Given the description of an element on the screen output the (x, y) to click on. 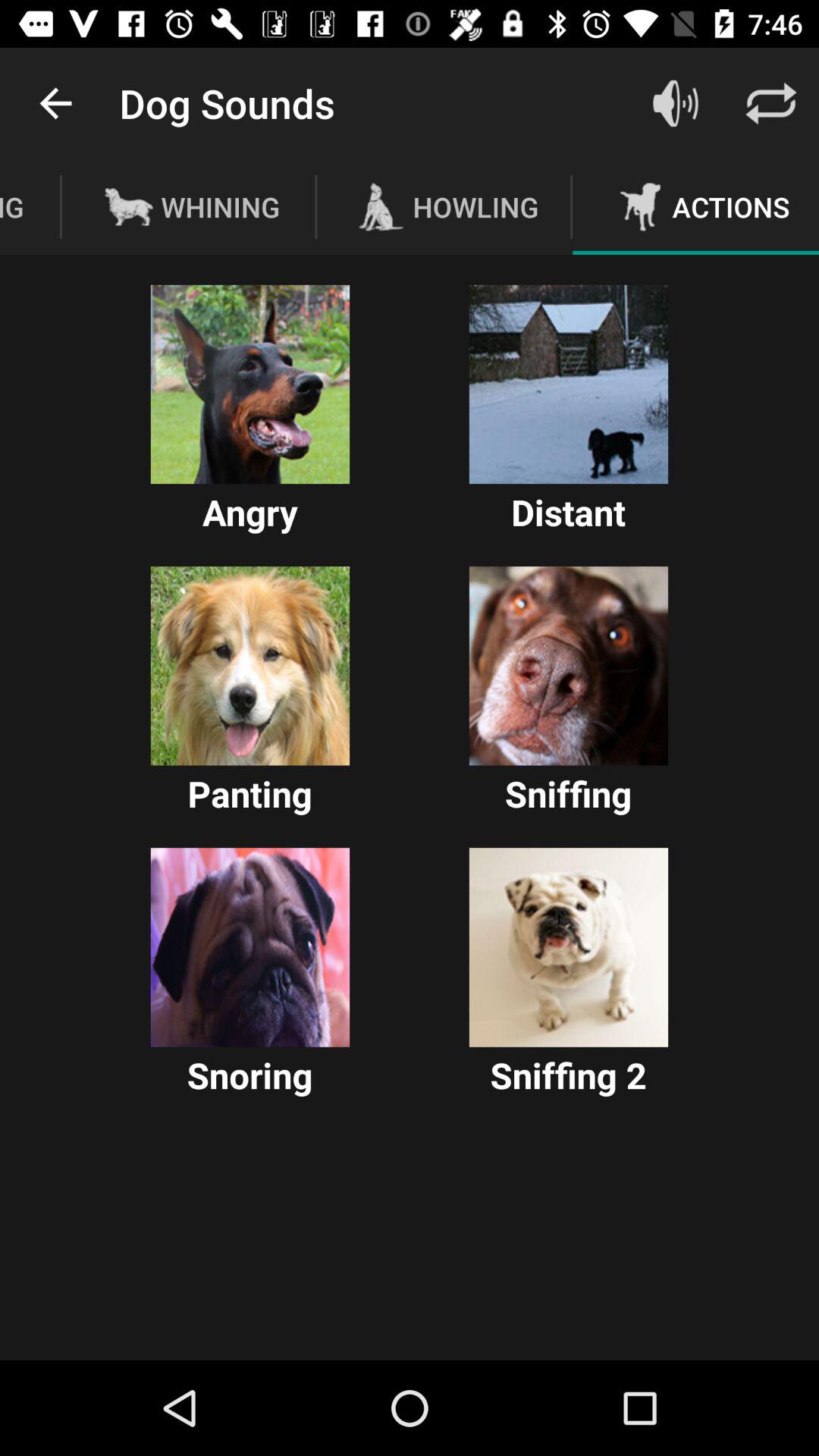
click the icon to the left of the dog sounds icon (55, 103)
